Given the description of an element on the screen output the (x, y) to click on. 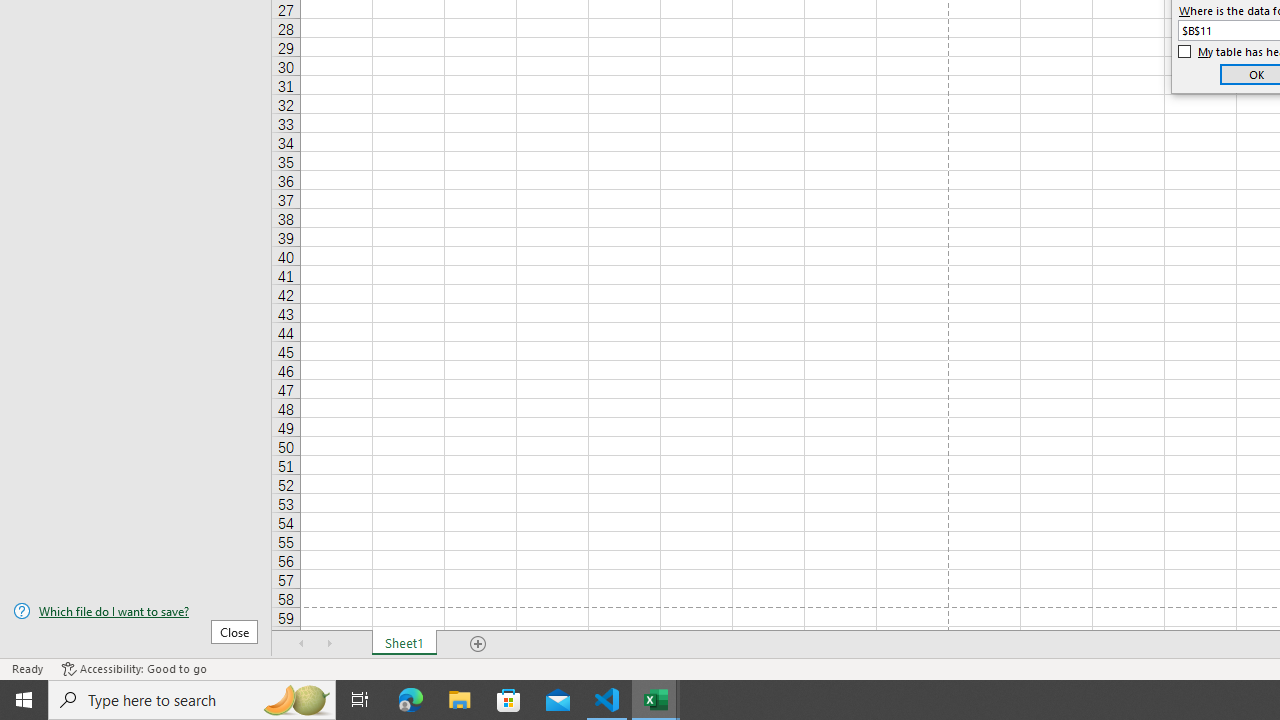
Which file do I want to save? (136, 611)
